Given the description of an element on the screen output the (x, y) to click on. 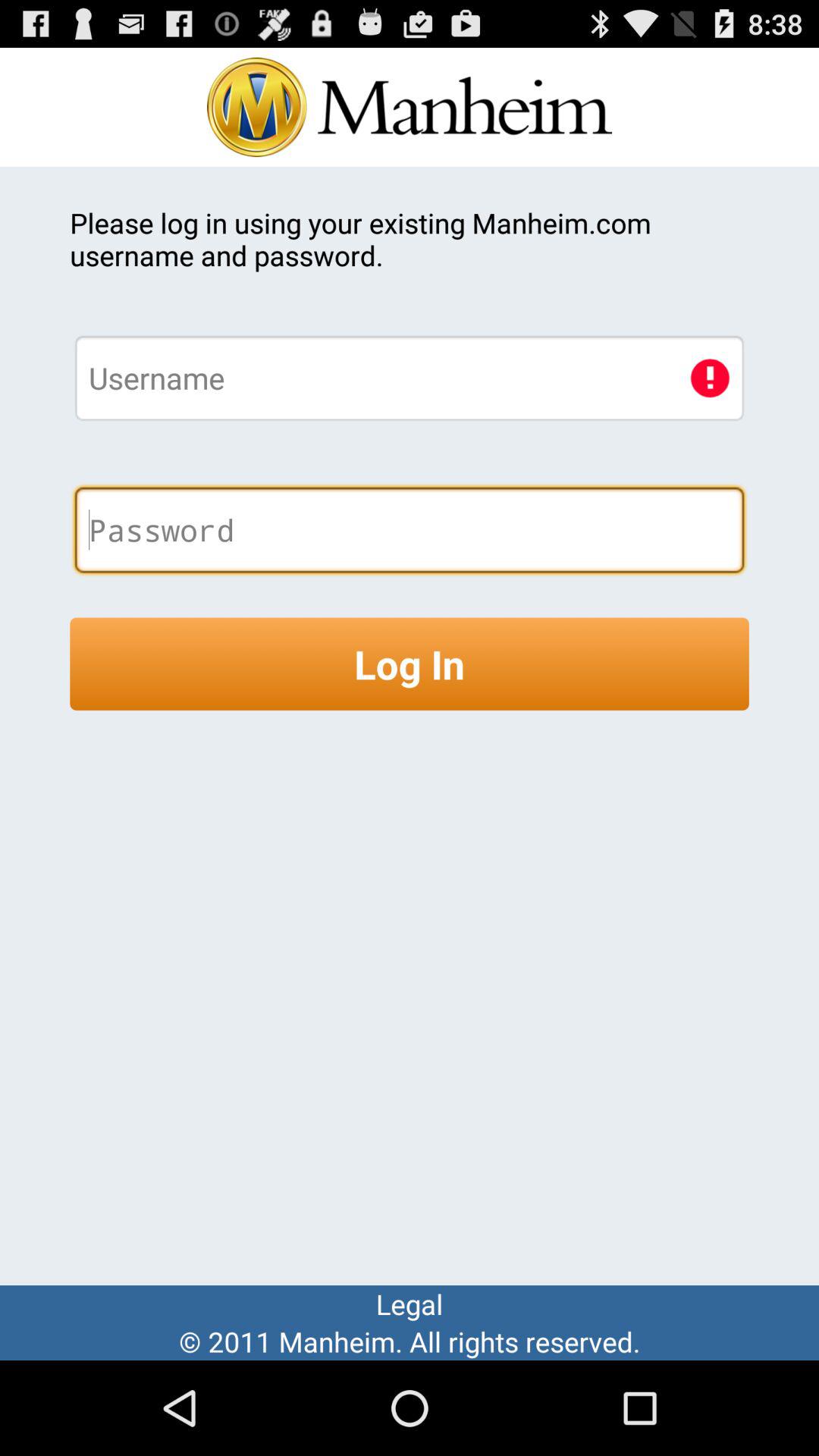
jump to the legal app (409, 1303)
